Given the description of an element on the screen output the (x, y) to click on. 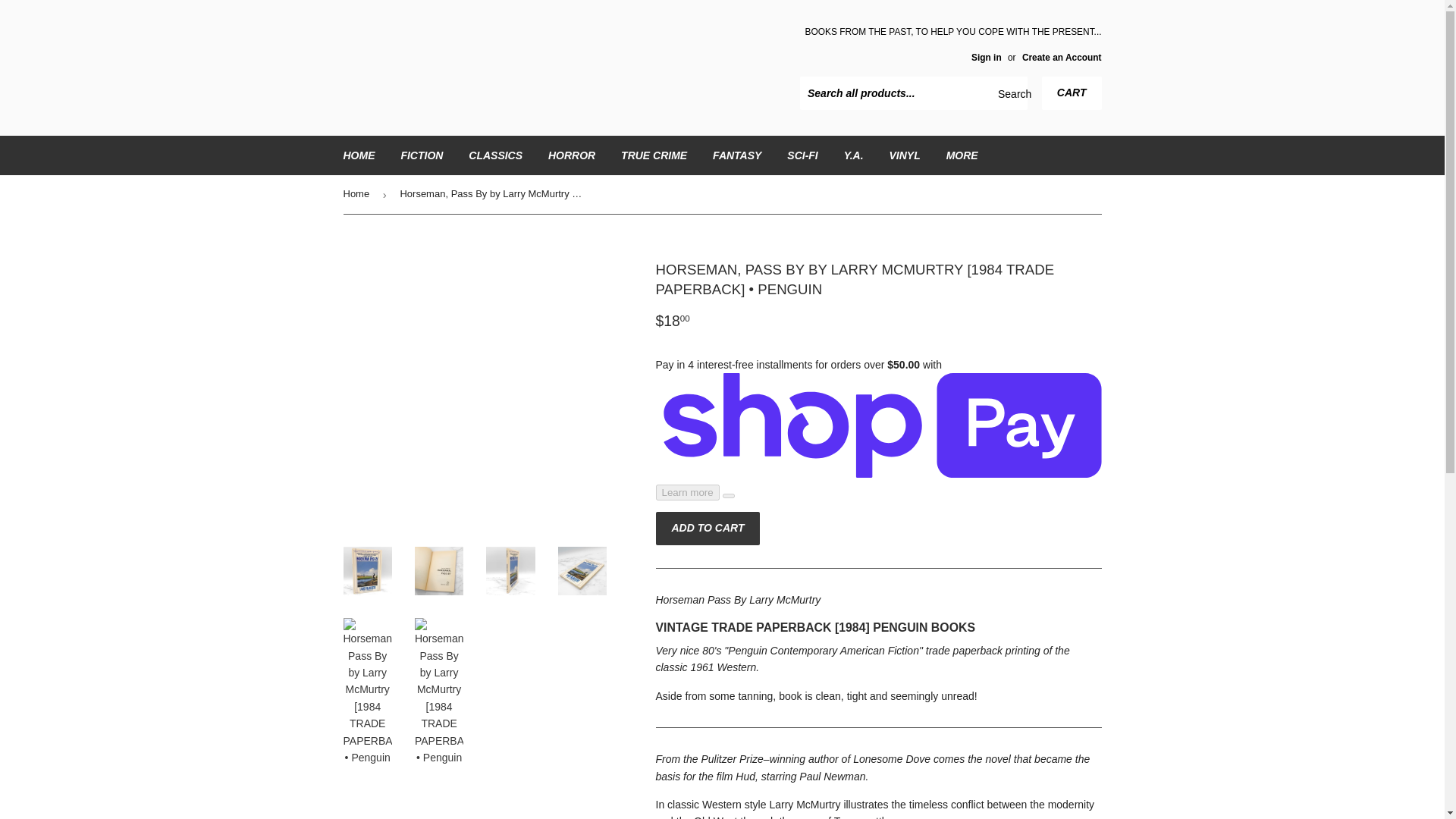
HORROR (572, 155)
Create an Account (1062, 57)
CART (1072, 92)
Sign in (986, 57)
HOME (359, 155)
FICTION (421, 155)
CLASSICS (495, 155)
Search (1009, 93)
